Given the description of an element on the screen output the (x, y) to click on. 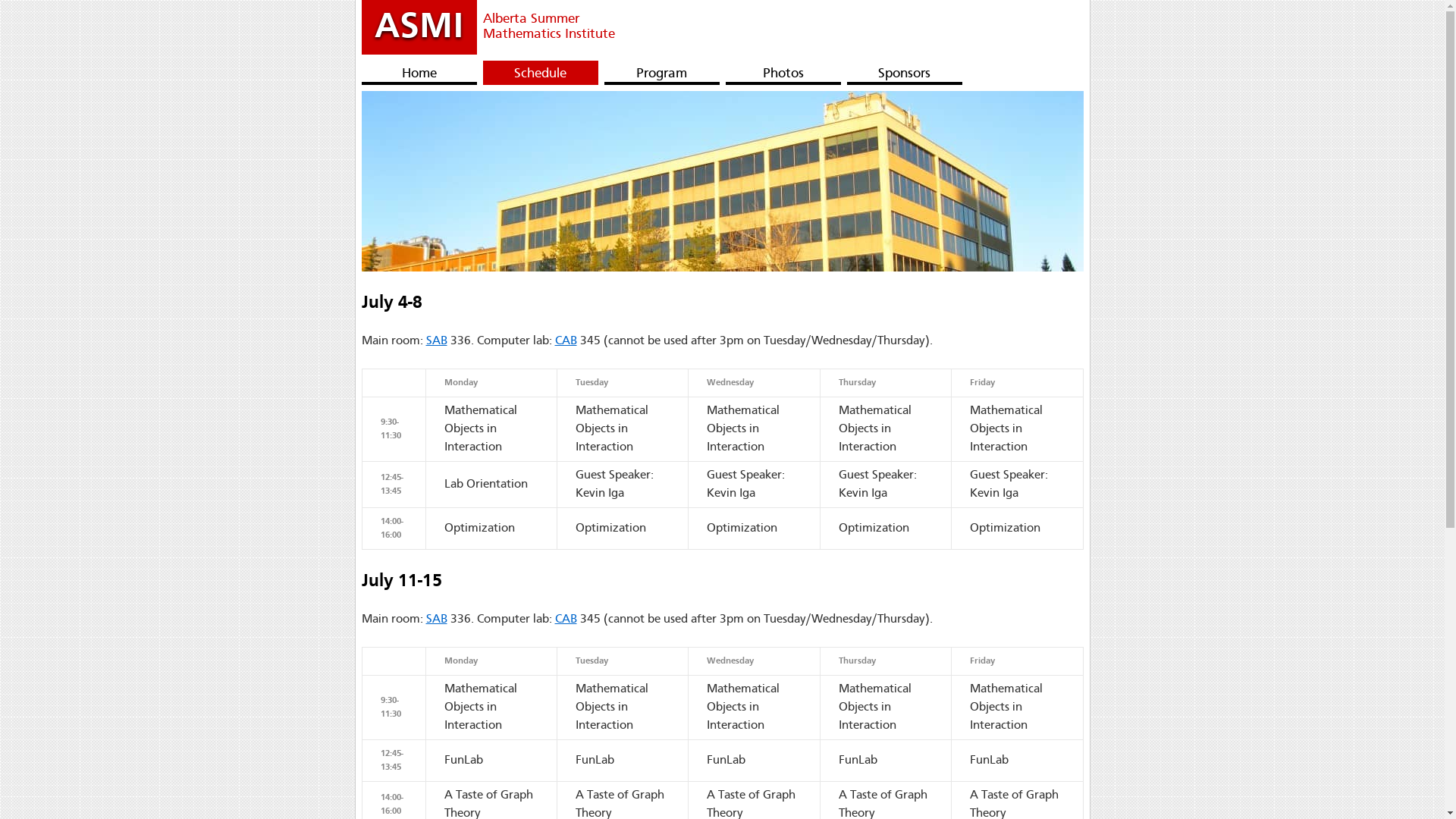
CAB Element type: text (566, 619)
Alberta Summer Mathematics Institute Element type: text (567, 24)
SAB Element type: text (436, 619)
CAB Element type: text (566, 341)
Home Element type: text (418, 72)
Program Element type: text (660, 72)
Photos Element type: text (782, 72)
SAB Element type: text (436, 341)
Schedule Element type: text (539, 72)
Sponsors Element type: text (903, 72)
ASMI Element type: text (418, 27)
